Given the description of an element on the screen output the (x, y) to click on. 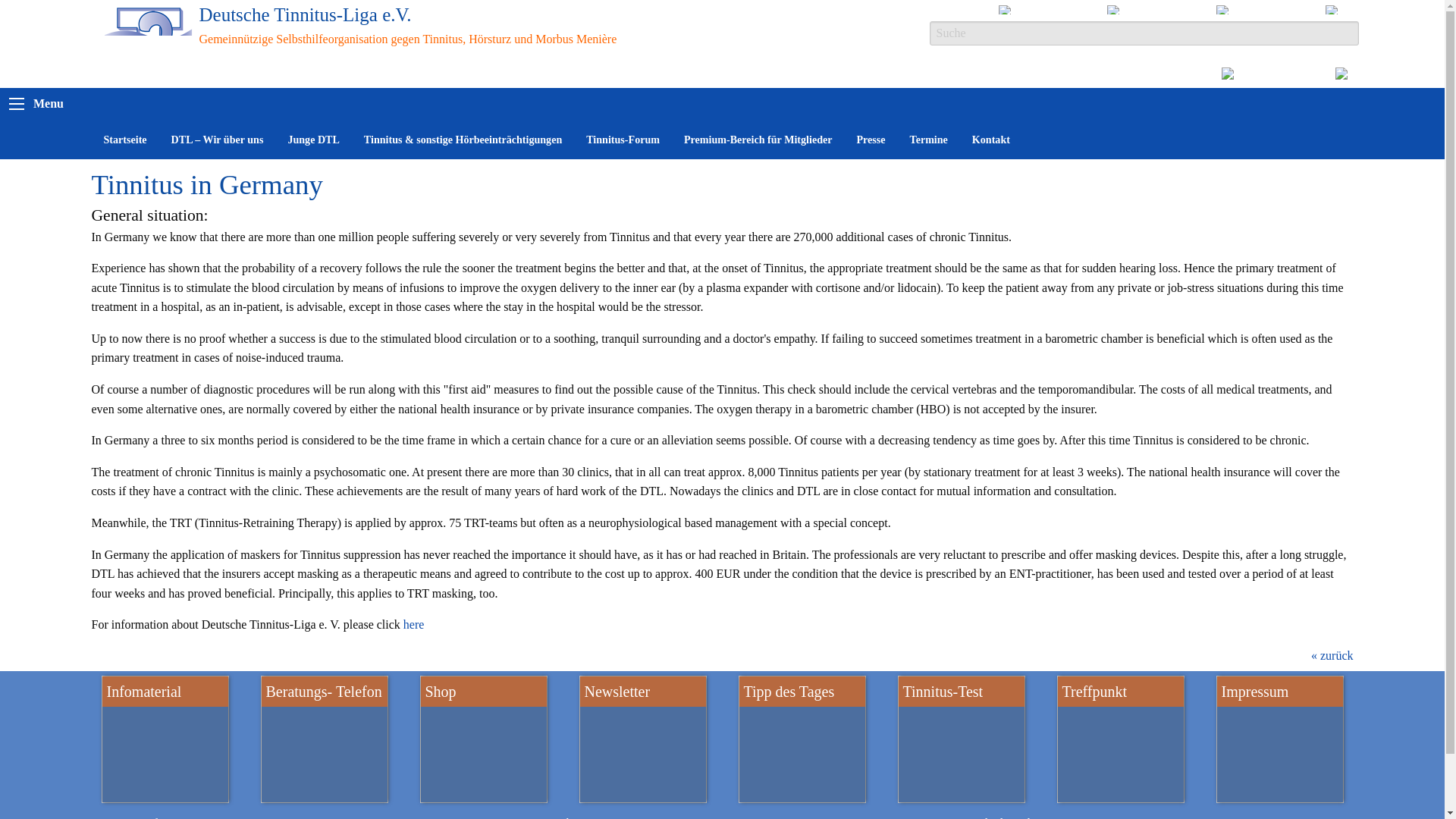
zur Startseite (148, 43)
